Given the description of an element on the screen output the (x, y) to click on. 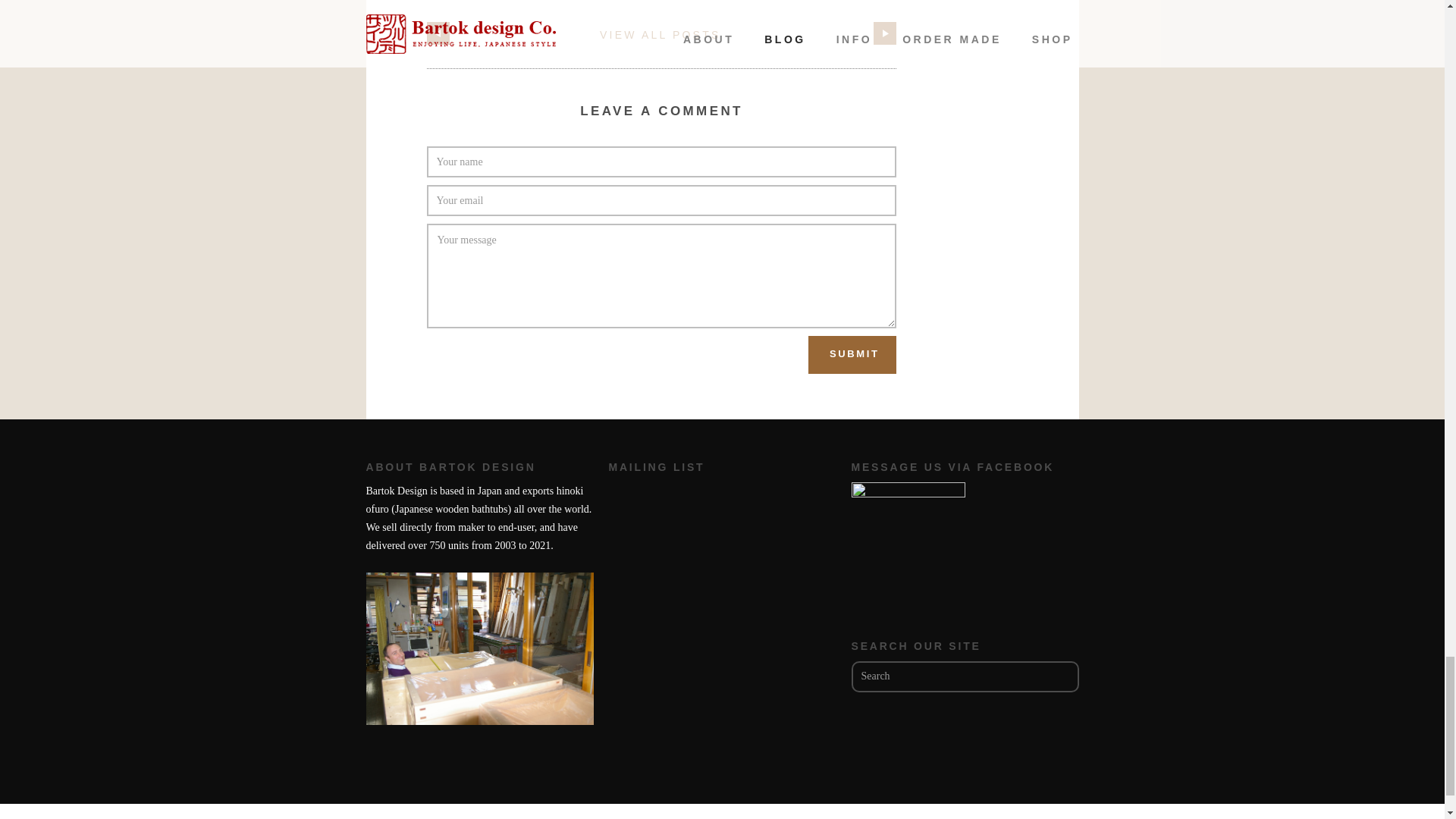
Submit (852, 354)
